Given the description of an element on the screen output the (x, y) to click on. 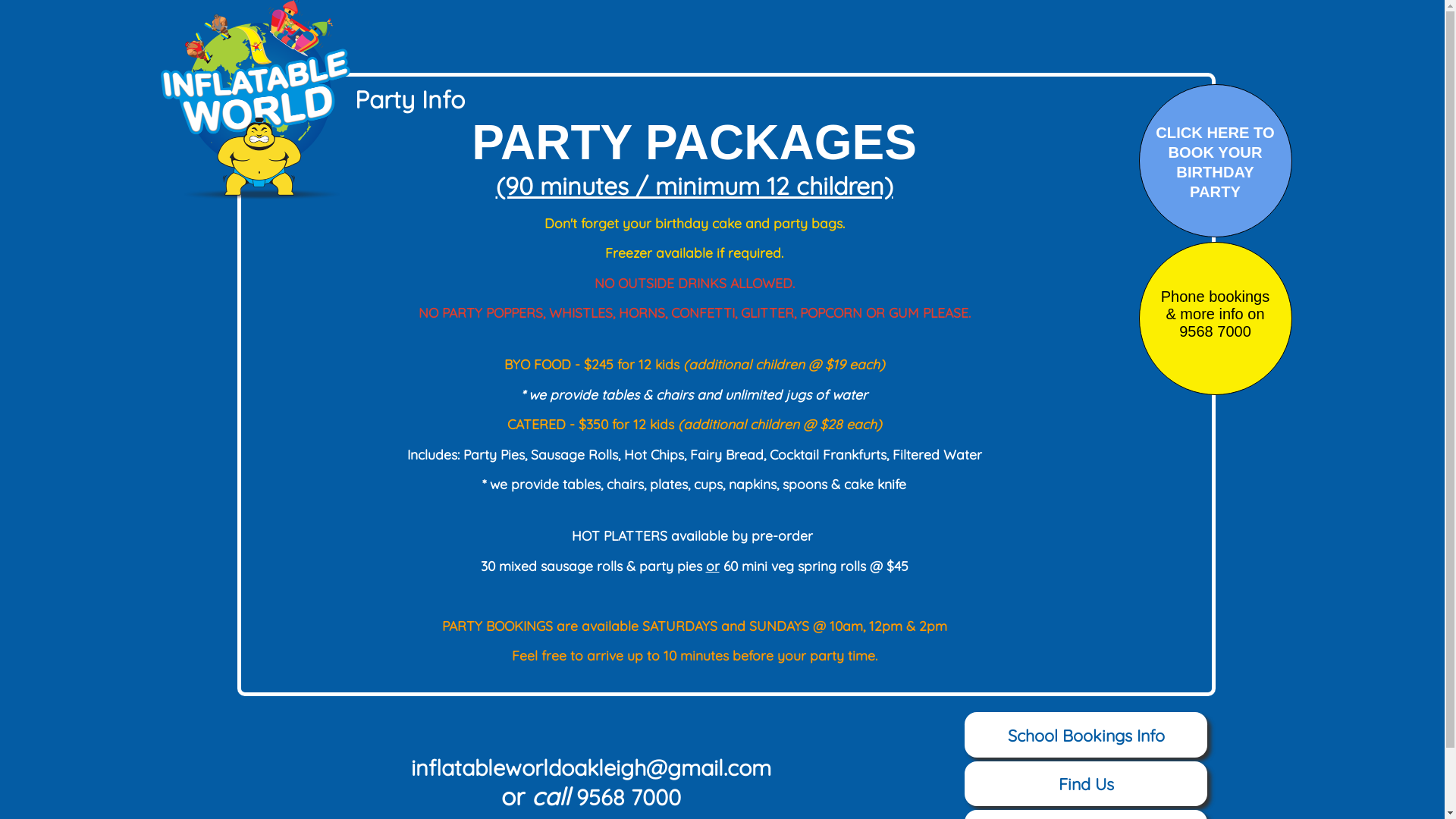
9568 7000 Element type: text (628, 796)
School Bookings Info Element type: text (1085, 734)
Find Us Element type: text (1085, 783)
CLICK HERE TO BOOK YOUR BIRTHDAY PARTY Element type: text (1214, 162)
